Given the description of an element on the screen output the (x, y) to click on. 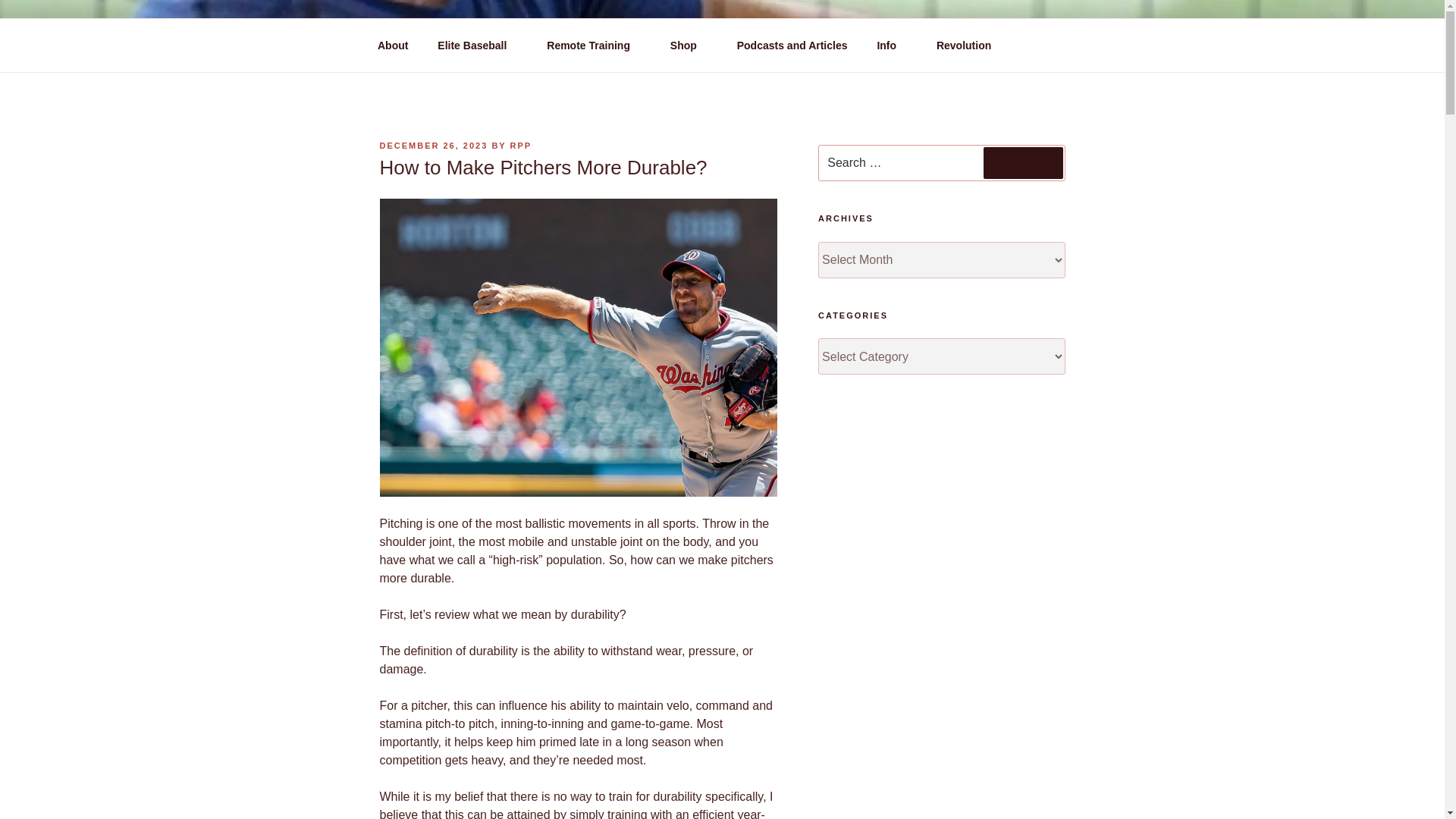
About (392, 45)
RPP BASEBALL (497, 52)
Elite Baseball (478, 45)
Remote Training (593, 45)
